Given the description of an element on the screen output the (x, y) to click on. 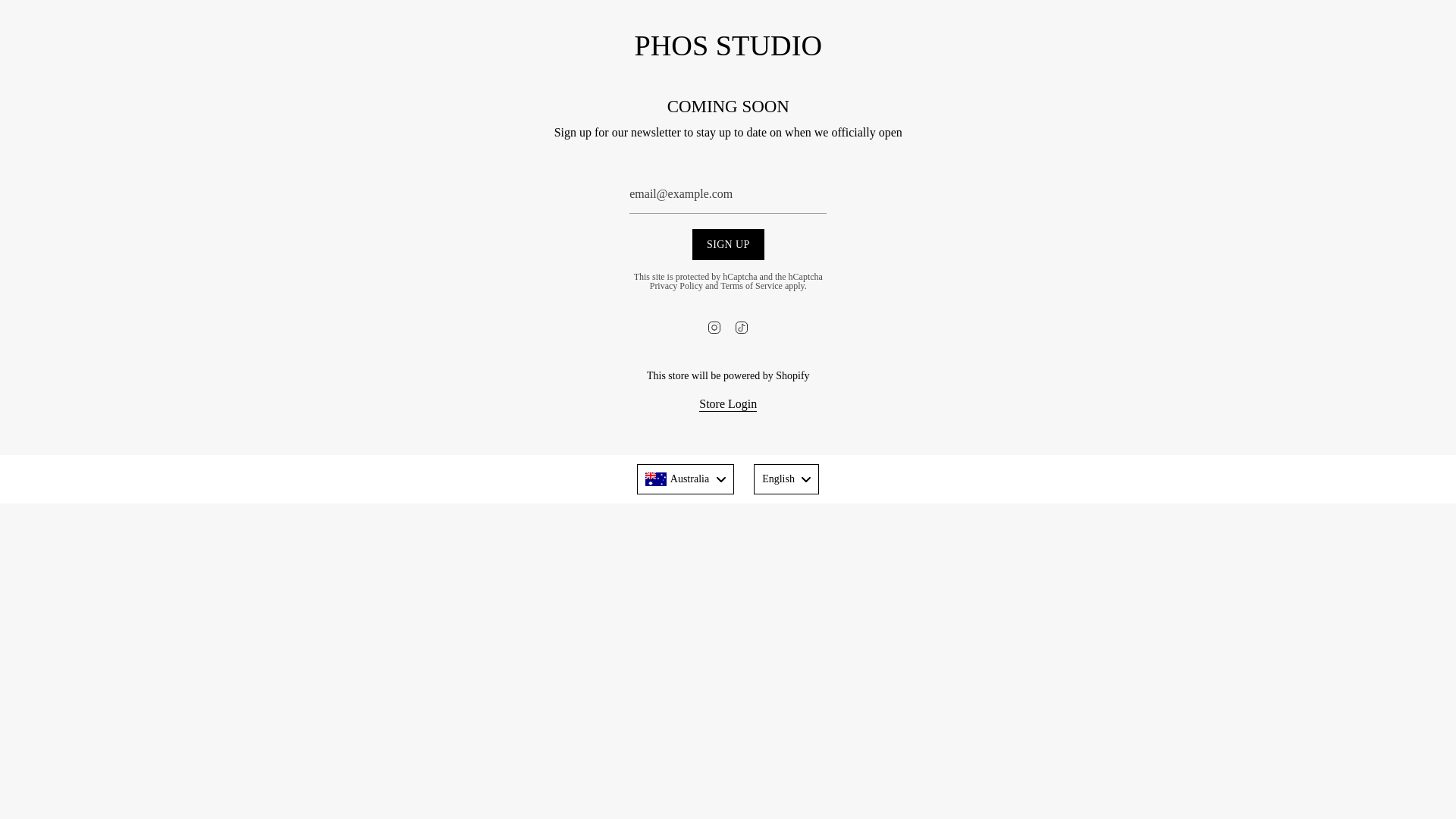
Phos Studio on TikTok (741, 336)
Australia (685, 479)
English (786, 479)
Phos Studio on Instagram (714, 336)
